Given the description of an element on the screen output the (x, y) to click on. 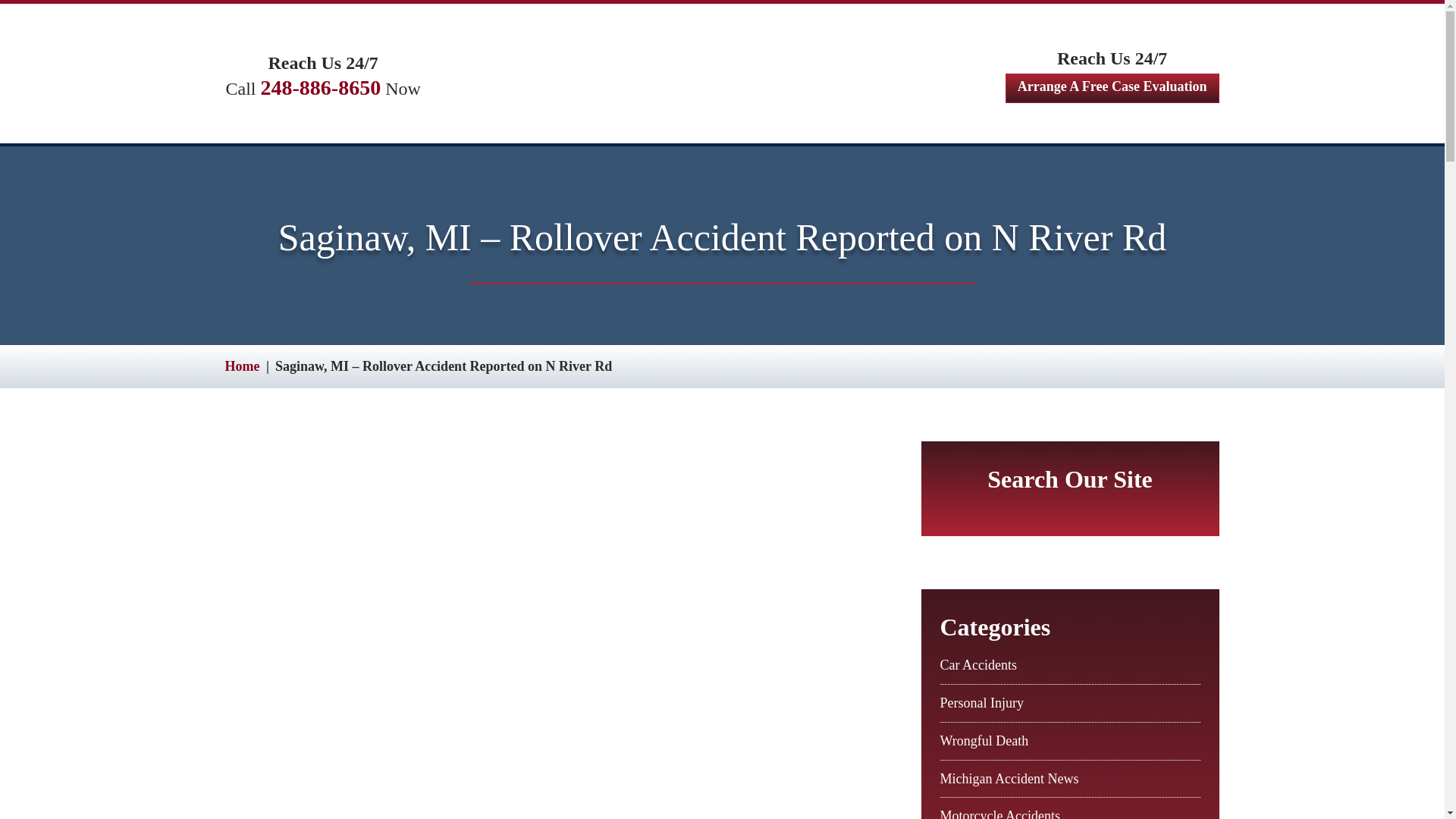
Wrongful Death (984, 740)
Arrange A Free Case Evaluation (1113, 88)
Home (241, 365)
248-886-8650 (320, 87)
Car Accidents (978, 664)
Motorcycle Accidents (999, 813)
Michigan Accident News (1009, 778)
Personal Injury (981, 702)
Breadcrumb link to Home (241, 365)
